Given the description of an element on the screen output the (x, y) to click on. 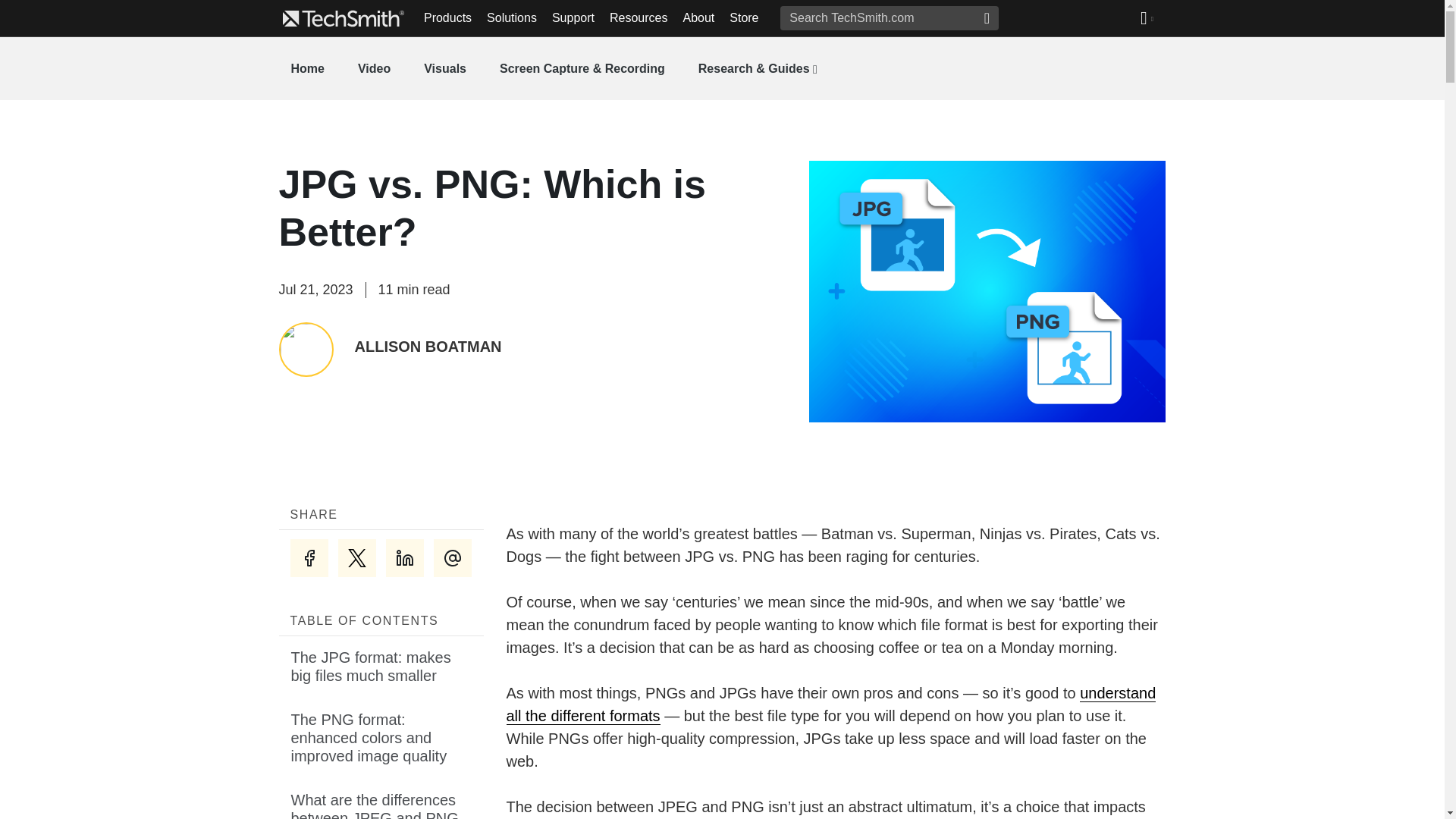
Support (573, 18)
Resources (638, 18)
Share by Email (452, 557)
Products (447, 18)
Solutions (511, 18)
